Given the description of an element on the screen output the (x, y) to click on. 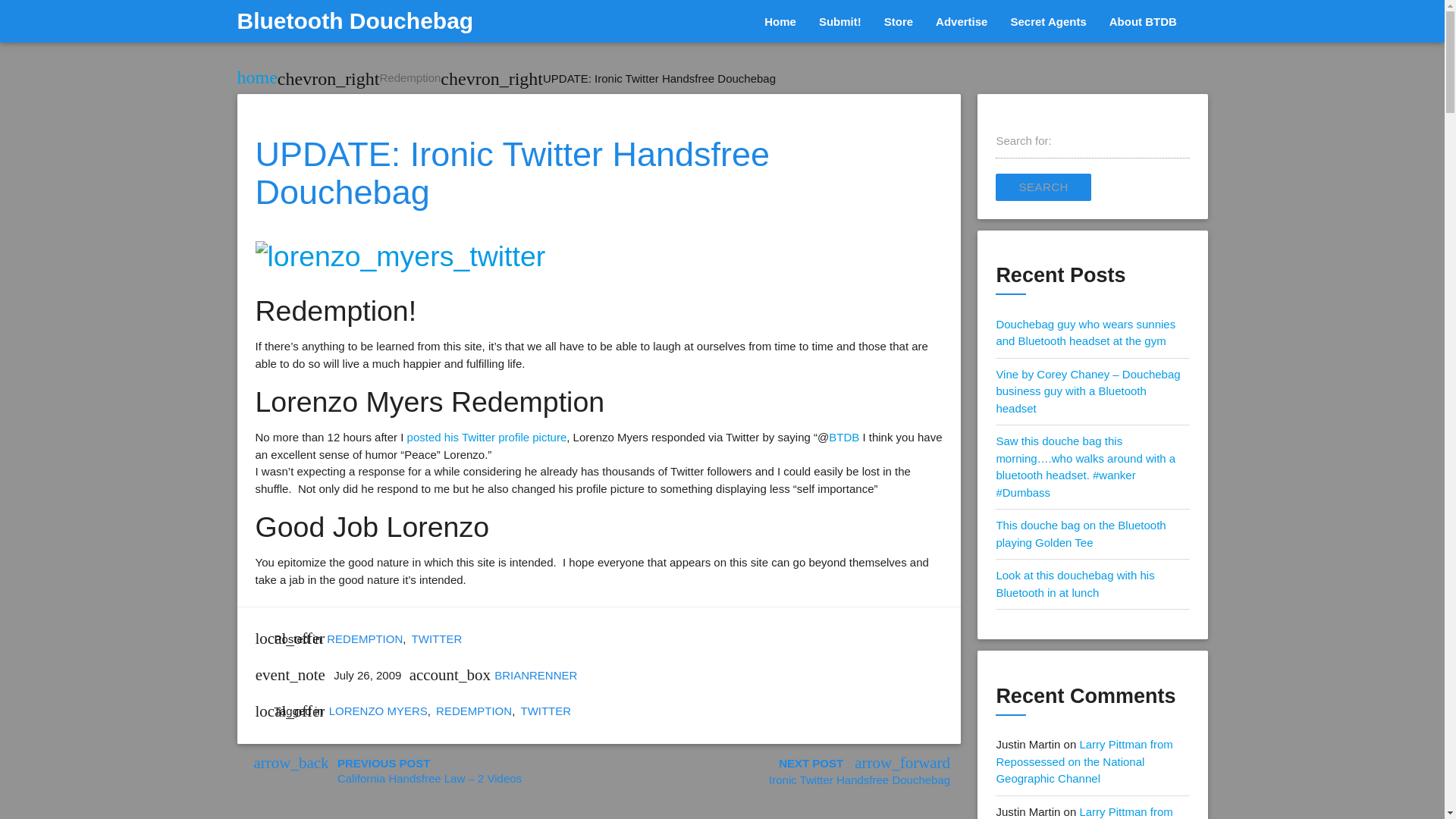
TWITTER (544, 710)
About BTDB (1142, 21)
Secret Agents (1047, 21)
Bluetooth Douchebag (354, 21)
UPDATE: Ironic Twitter Handsfree Douchebag (659, 78)
Lorenzo Myers Twitter (487, 436)
This douche bag on the Bluetooth playing Golden Tee (1080, 533)
BTDB (843, 436)
Redemption (409, 77)
REDEMPTION (364, 638)
Submit! (840, 21)
REDEMPTION (473, 710)
